Given the description of an element on the screen output the (x, y) to click on. 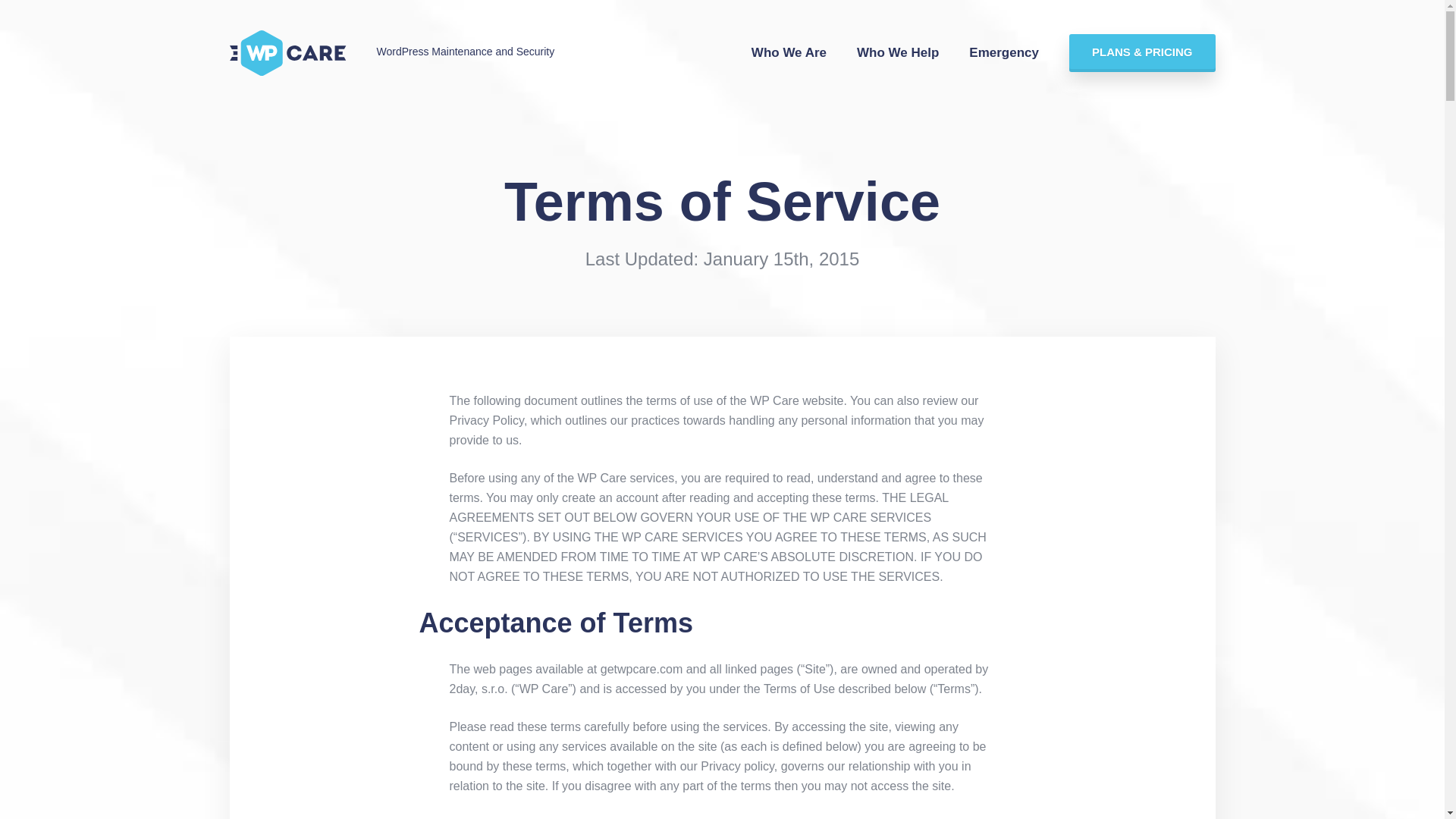
Emergency (1004, 53)
Who We Are (789, 53)
Who We Help (898, 53)
